Given the description of an element on the screen output the (x, y) to click on. 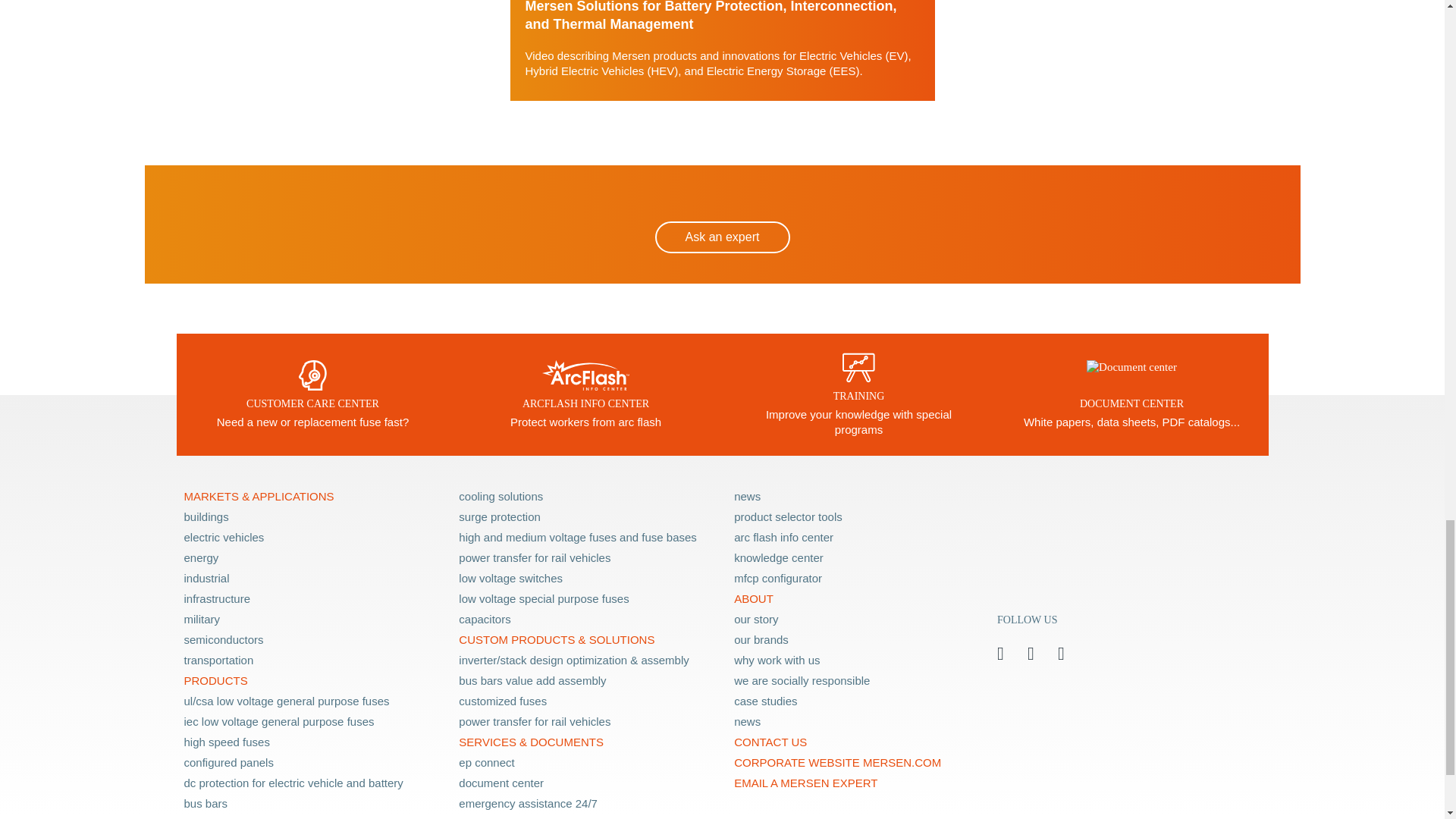
Semiconductors (311, 639)
Energy (311, 557)
Industrial (311, 578)
Infrastructure (311, 598)
Buildings (311, 516)
Electric Vehicles (311, 537)
Transportation (311, 660)
Military (311, 619)
